Given the description of an element on the screen output the (x, y) to click on. 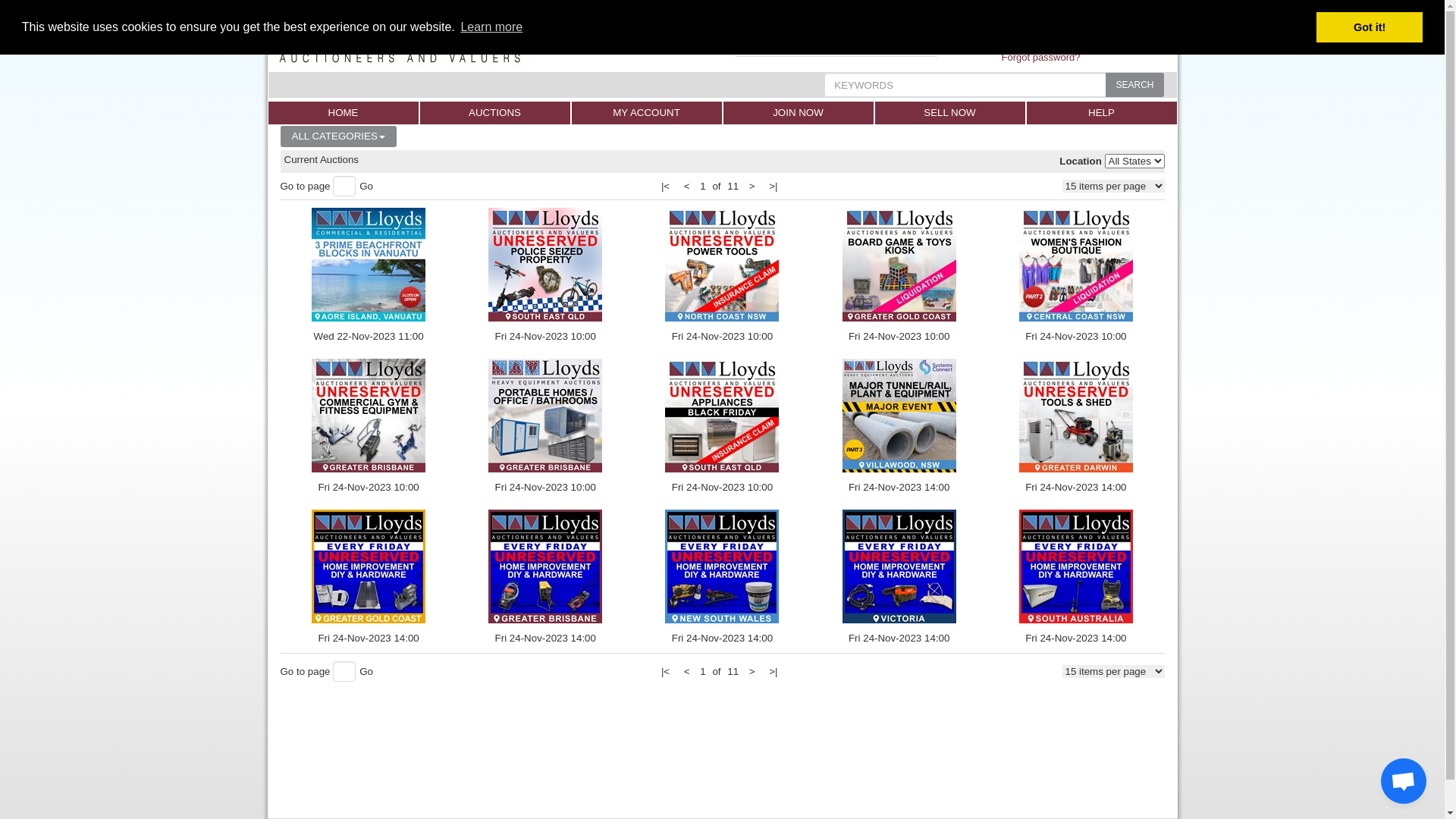
 SIGN IN Element type: text (1040, 28)
< Element type: text (687, 671)
Got it! Element type: text (1369, 27)
Fri 24-Nov-2023 14:00 Element type: text (721, 577)
Fri 24-Nov-2023 14:00 Element type: text (898, 426)
JOIN NOW Element type: text (798, 112)
Fri 24-Nov-2023 10:00 Element type: text (1075, 275)
Learn more Element type: text (491, 26)
HELP Element type: text (1101, 112)
Fri 24-Nov-2023 14:00 Element type: text (545, 577)
Fri 24-Nov-2023 14:00 Element type: text (1075, 577)
> Element type: text (752, 185)
Fri 24-Nov-2023 10:00 Element type: text (545, 275)
Wed 22-Nov-2023 11:00 Element type: text (368, 275)
SEARCH Element type: text (1134, 84)
Fri 24-Nov-2023 10:00 Element type: text (545, 426)
MY ACCOUNT Element type: text (646, 112)
Forgot password? Element type: text (1040, 56)
|< Element type: text (665, 185)
> Element type: text (752, 671)
Fri 24-Nov-2023 10:00 Element type: text (898, 275)
Fri 24-Nov-2023 14:00 Element type: text (368, 577)
AUCTIONS Element type: text (495, 112)
SELL NOW Element type: text (950, 112)
Fri 24-Nov-2023 10:00 Element type: text (721, 426)
Fri 24-Nov-2023 10:00 Element type: text (721, 275)
|< Element type: text (665, 671)
Fri 24-Nov-2023 14:00 Element type: text (898, 577)
>| Element type: text (772, 671)
< Element type: text (687, 185)
ALL CATEGORIES Element type: text (338, 136)
HOME Element type: text (343, 112)
Go Element type: text (366, 671)
Fri 24-Nov-2023 10:00 Element type: text (368, 426)
Fri 24-Nov-2023 14:00 Element type: text (1075, 426)
Go Element type: text (366, 185)
>| Element type: text (772, 185)
